Given the description of an element on the screen output the (x, y) to click on. 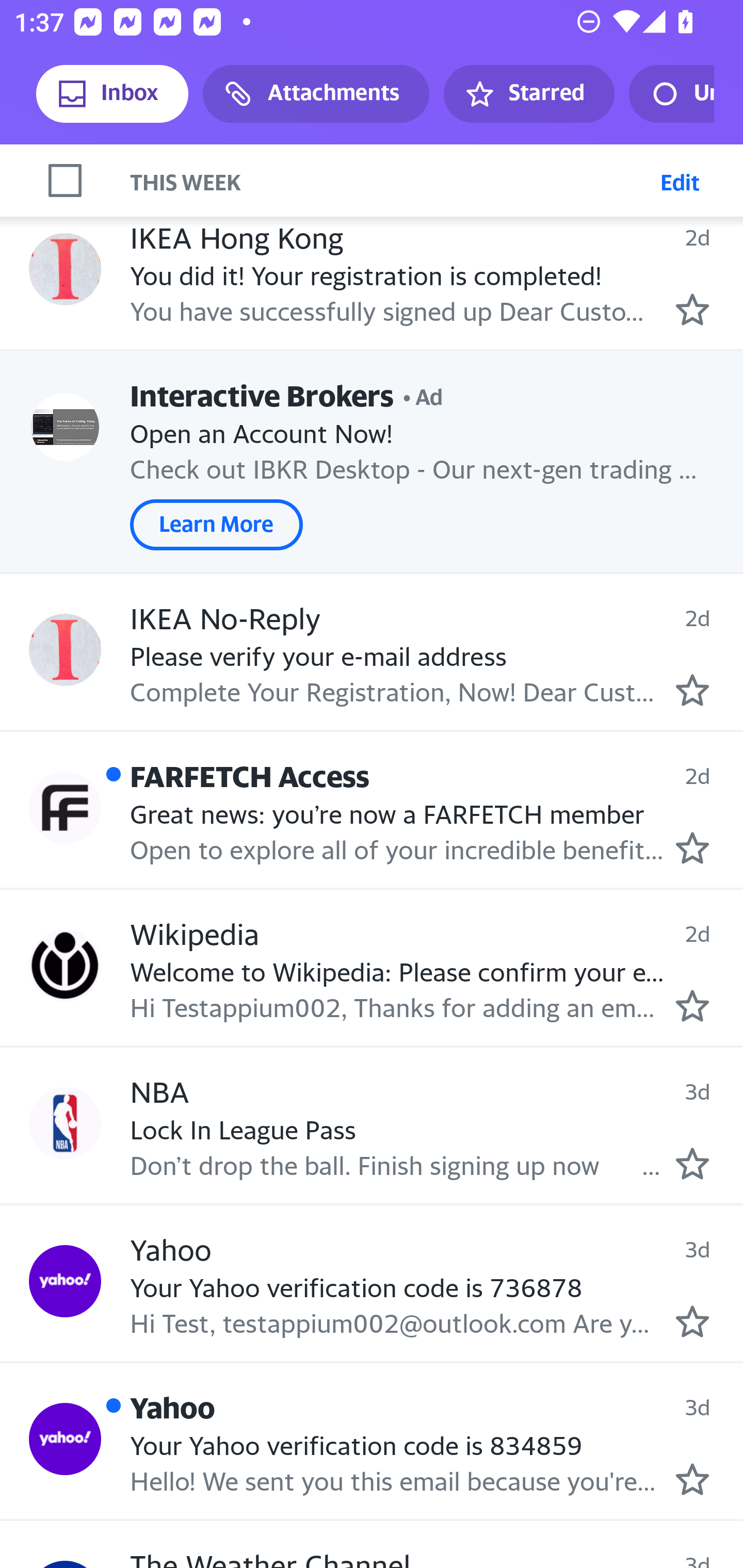
Attachments (315, 93)
Starred (528, 93)
Profile
IKEA Hong Kong (64, 269)
Mark as starred. (692, 309)
Profile
IKEA No-Reply (64, 649)
Mark as starred. (692, 690)
Profile
FARFETCH Access (64, 807)
Mark as starred. (692, 847)
Profile
Wikipedia (64, 965)
Mark as starred. (692, 1005)
Profile
NBA (64, 1122)
Mark as starred. (692, 1164)
Profile
Yahoo (64, 1280)
Mark as starred. (692, 1321)
Profile
Yahoo (64, 1439)
Mark as starred. (692, 1479)
